Given the description of an element on the screen output the (x, y) to click on. 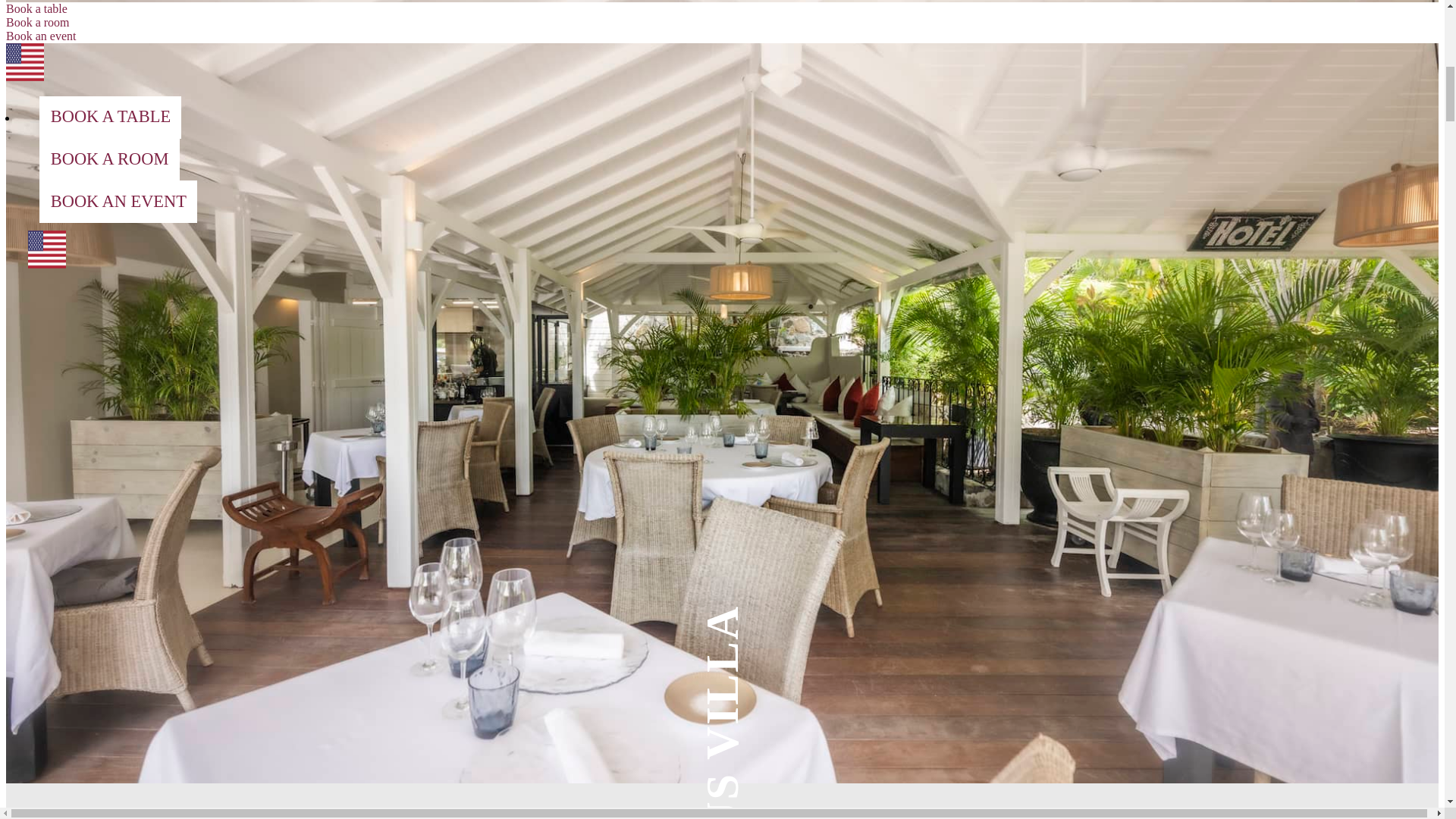
Translate in French (24, 76)
